Given the description of an element on the screen output the (x, y) to click on. 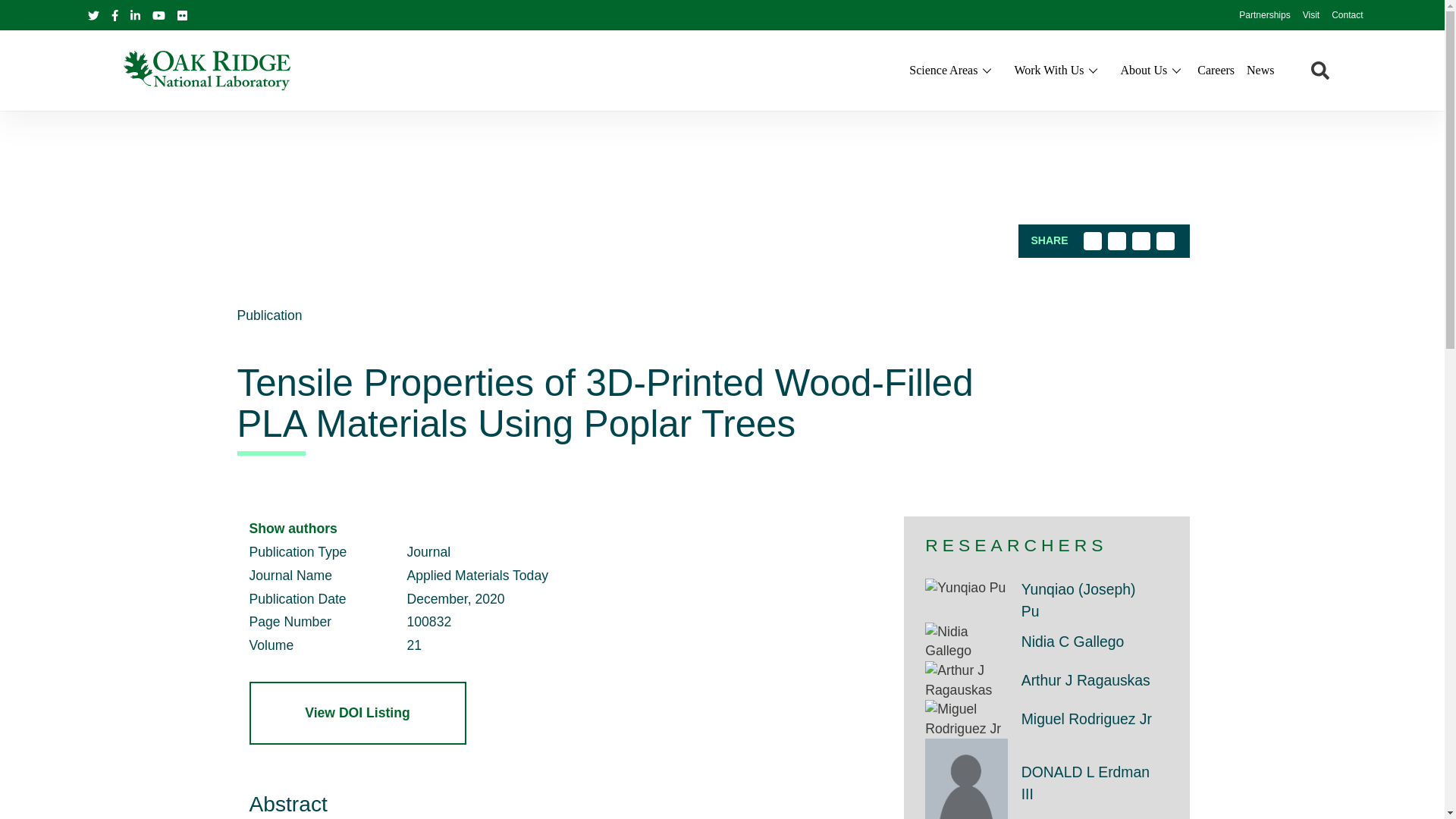
Facebook (113, 15)
flickr (182, 14)
YouTube (158, 14)
Partnerships (1264, 15)
Miguel Rodriguez Jr (965, 719)
News (1260, 69)
Careers (1215, 69)
YouTube (158, 15)
Email (1164, 240)
flickr (182, 15)
LinkedIn (1140, 240)
Contact (1347, 15)
LinkedIn (135, 14)
Visit (1311, 15)
